Given the description of an element on the screen output the (x, y) to click on. 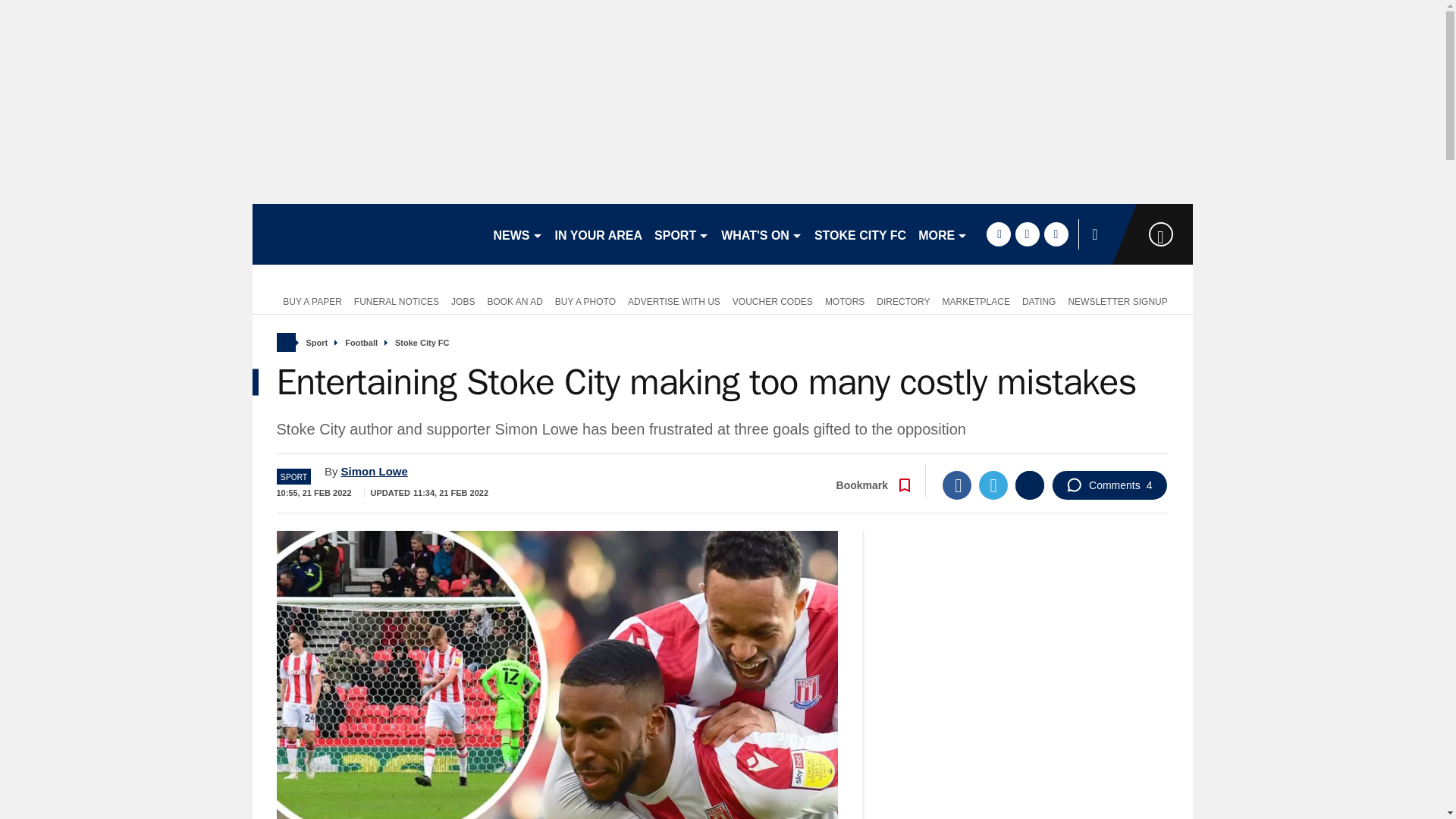
MORE (943, 233)
Twitter (992, 484)
stokesentinel (365, 233)
Facebook (956, 484)
twitter (1026, 233)
facebook (997, 233)
IN YOUR AREA (598, 233)
STOKE CITY FC (860, 233)
NEWS (517, 233)
instagram (1055, 233)
